Given the description of an element on the screen output the (x, y) to click on. 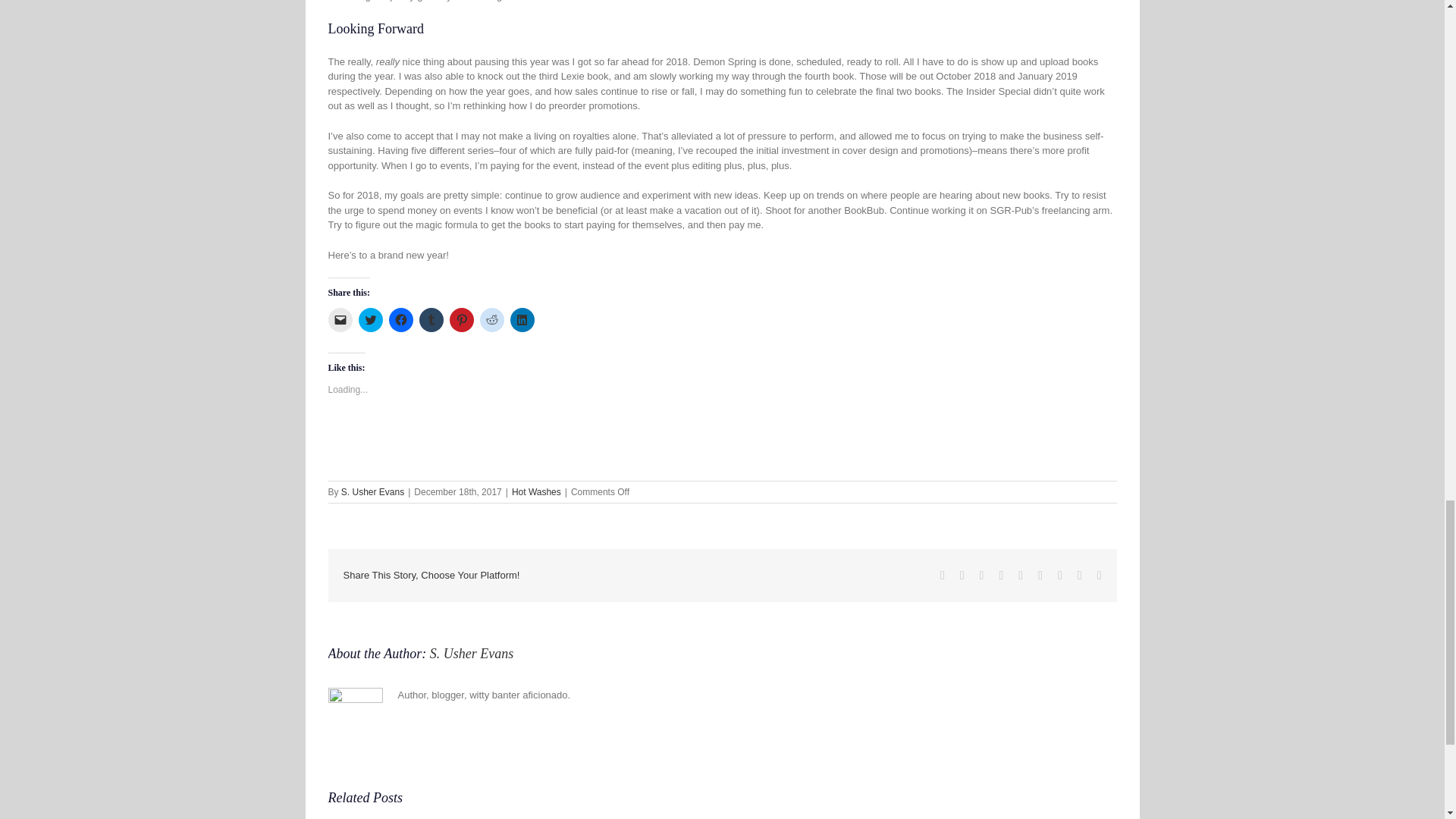
Click to share on LinkedIn (521, 319)
Click to share on Reddit (491, 319)
Click to share on Facebook (400, 319)
Click to share on Pinterest (460, 319)
Click to share on Twitter (369, 319)
Click to email a link to a friend (339, 319)
Like or Reblog (721, 445)
Click to share on Tumblr (430, 319)
Posts by S. Usher Evans (372, 491)
